Given the description of an element on the screen output the (x, y) to click on. 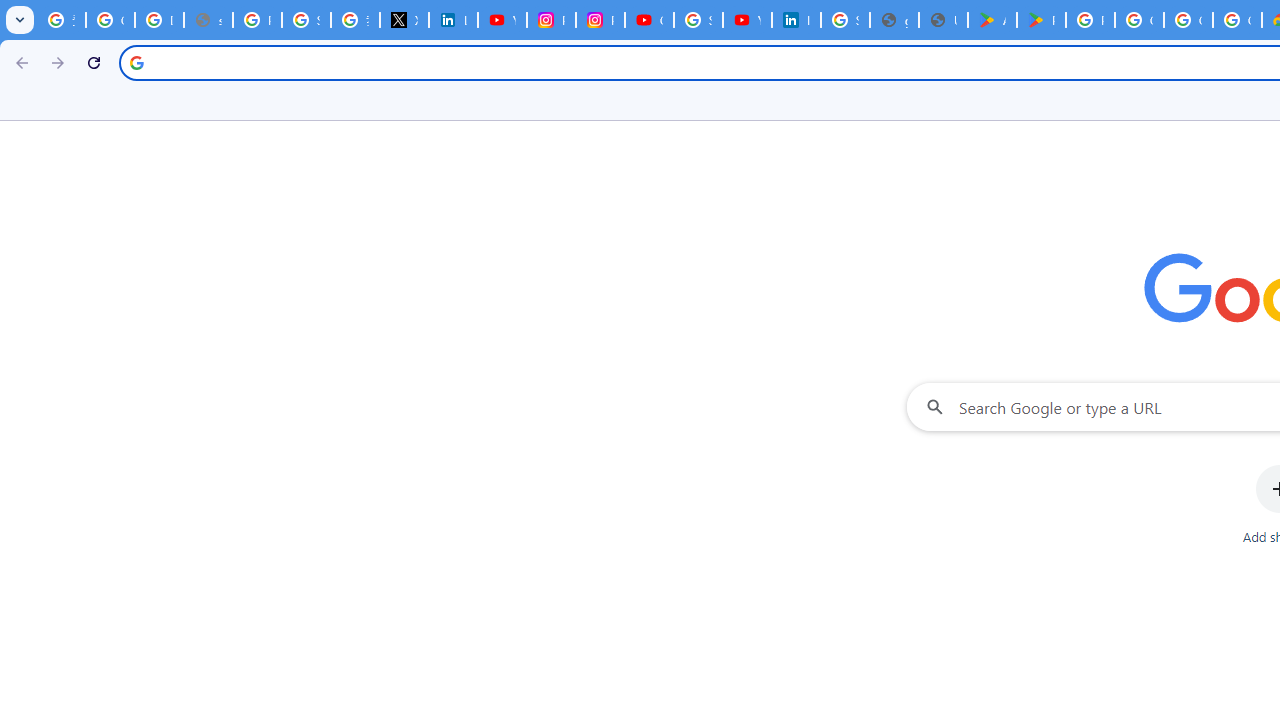
Search icon (136, 62)
Privacy Help Center - Policies Help (257, 20)
support.google.com - Network error (208, 20)
YouTube Content Monetization Policies - How YouTube Works (502, 20)
google_privacy_policy_en.pdf (894, 20)
User Details (943, 20)
PAW Patrol Rescue World - Apps on Google Play (1041, 20)
Google Workspace - Specific Terms (1188, 20)
LinkedIn Privacy Policy (452, 20)
